Given the description of an element on the screen output the (x, y) to click on. 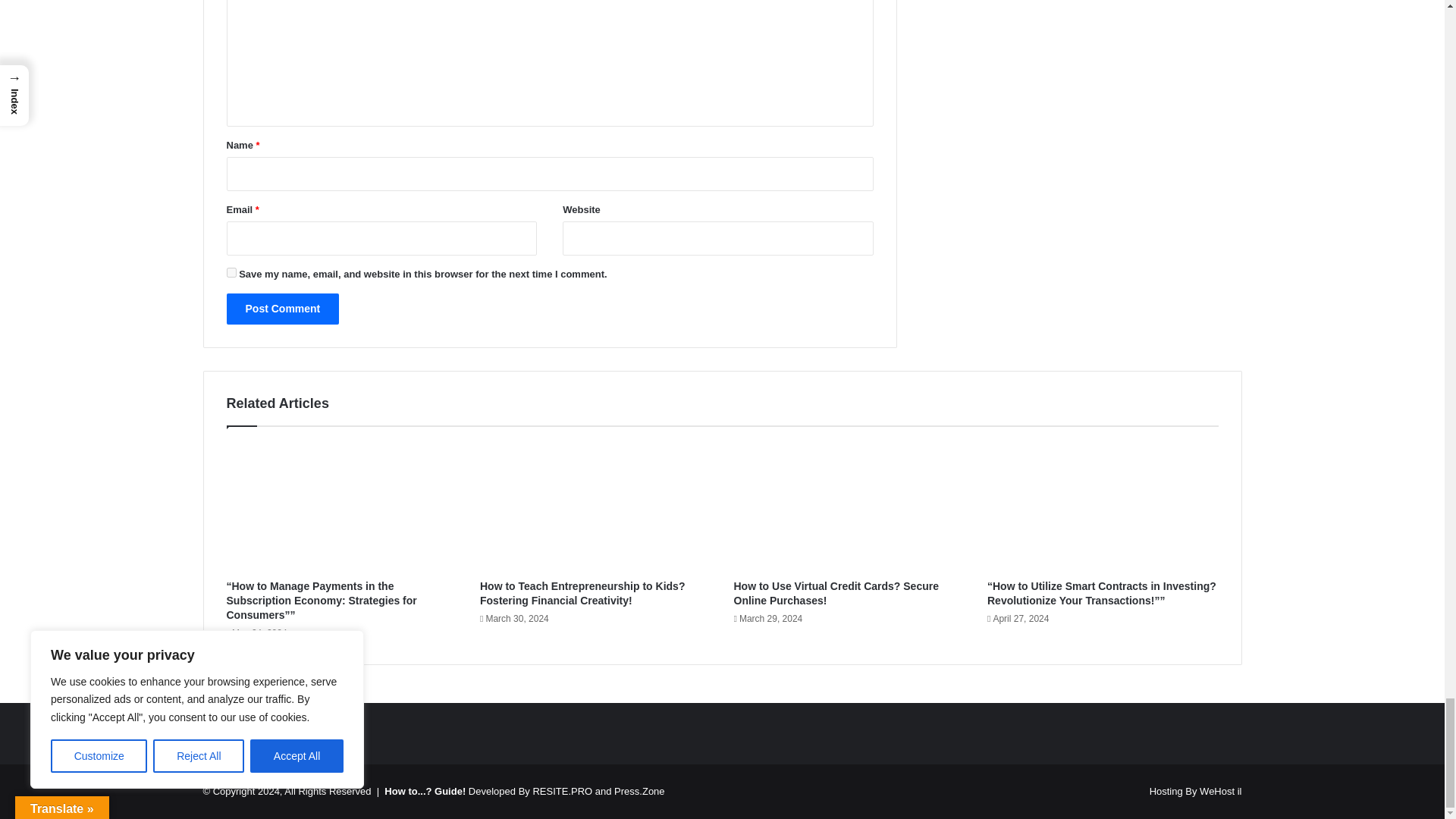
yes (230, 272)
Post Comment (282, 308)
